Given the description of an element on the screen output the (x, y) to click on. 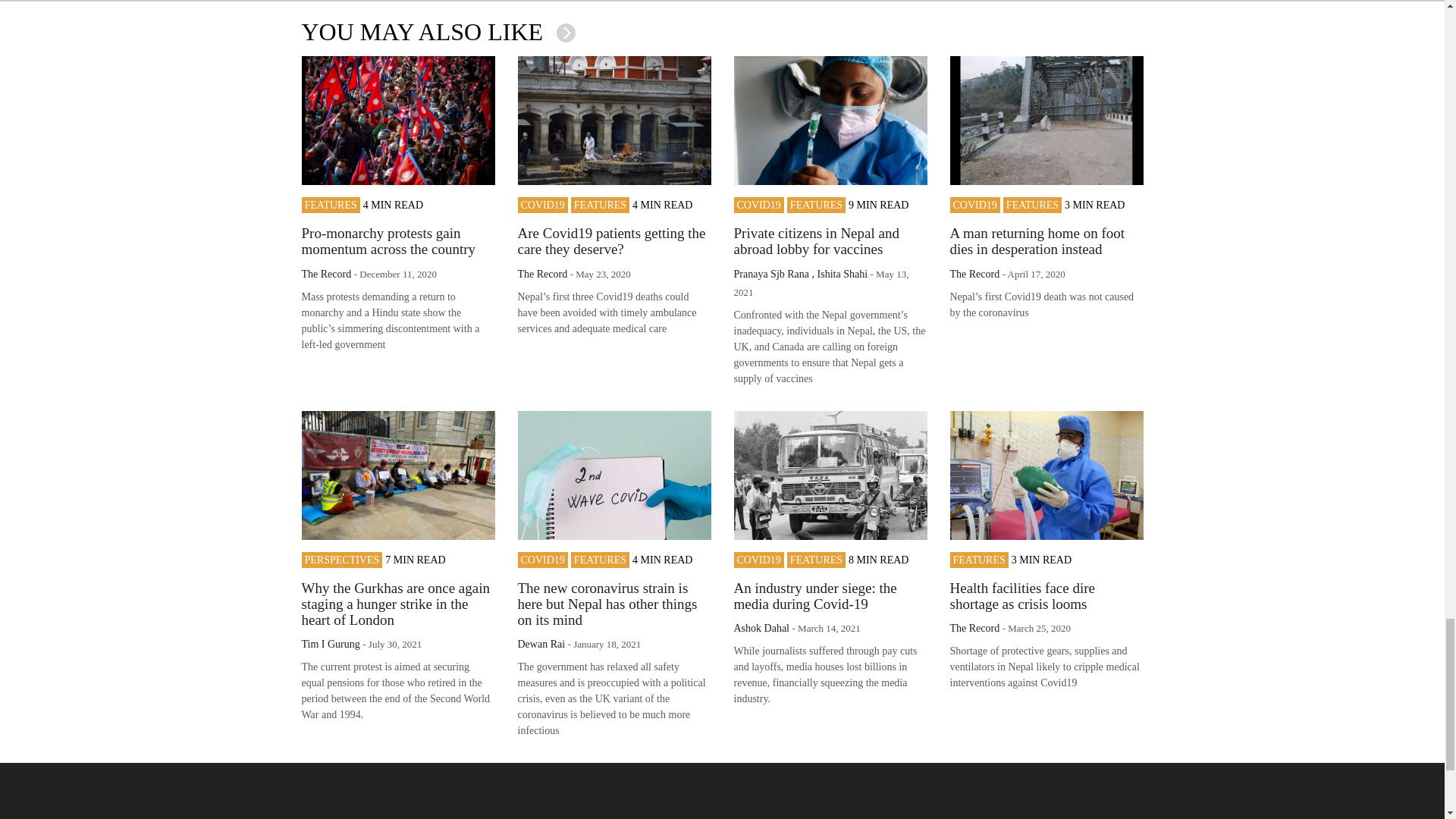
Private citizens in Nepal and abroad lobby for vaccines (816, 241)
Are Covid19 patients getting the care they deserve? (610, 241)
Pro-monarchy protests gain momentum across the country (388, 241)
